Given the description of an element on the screen output the (x, y) to click on. 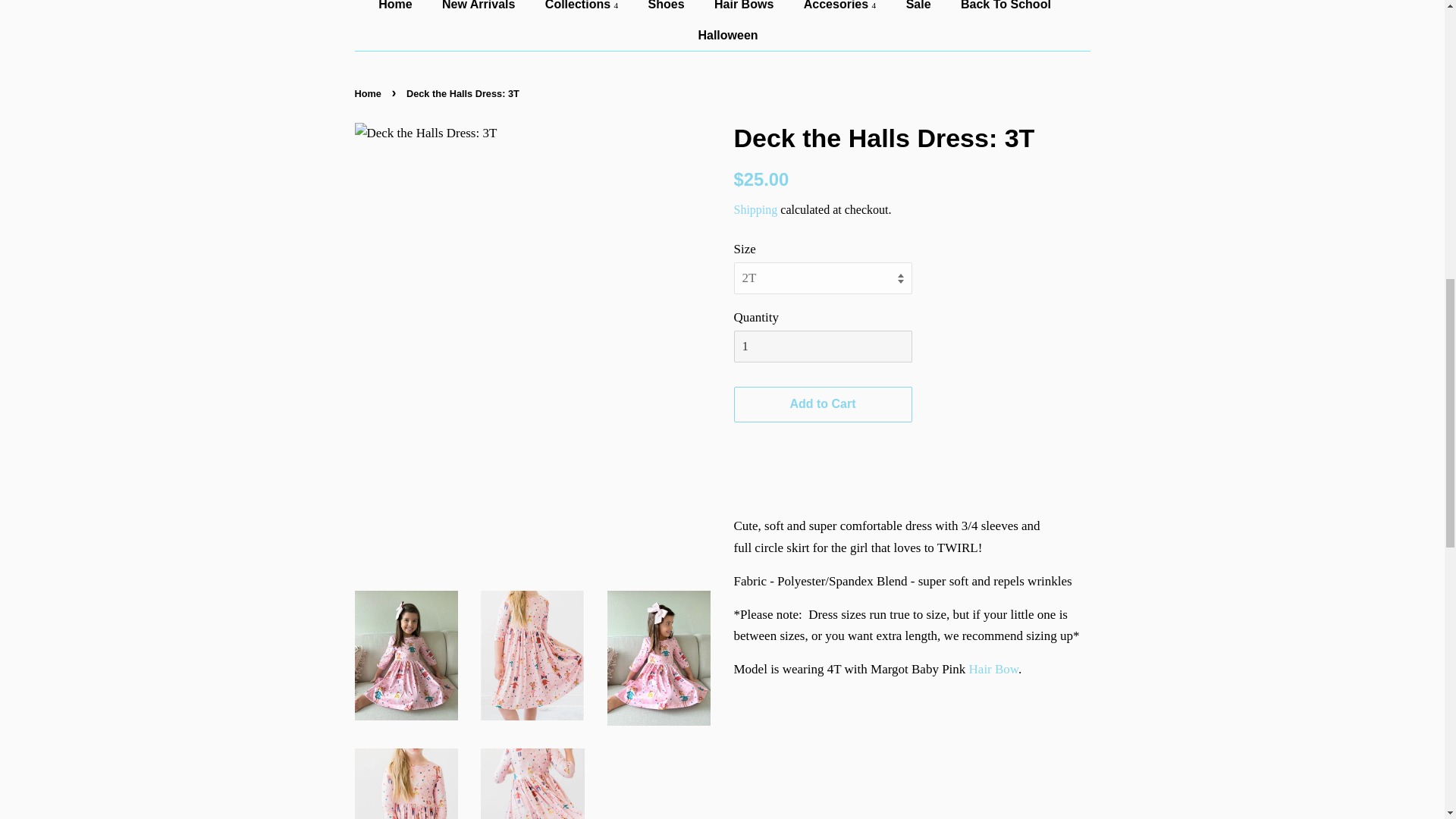
Collections (583, 9)
New Arrivals (479, 9)
1 (822, 346)
Home (402, 9)
Back to the frontpage (370, 93)
